Given the description of an element on the screen output the (x, y) to click on. 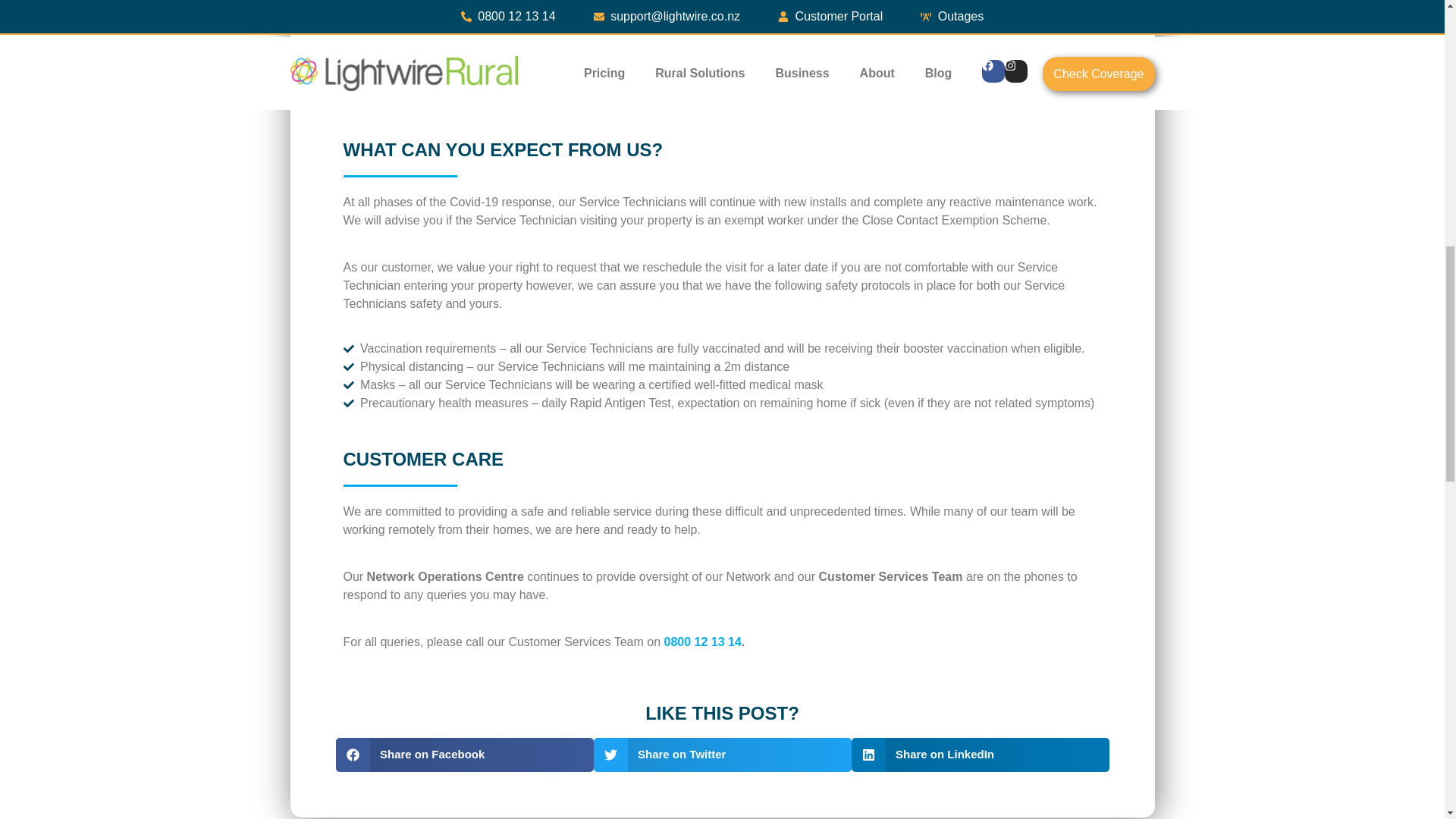
Call 0800121314 via 3CX (702, 641)
